Given the description of an element on the screen output the (x, y) to click on. 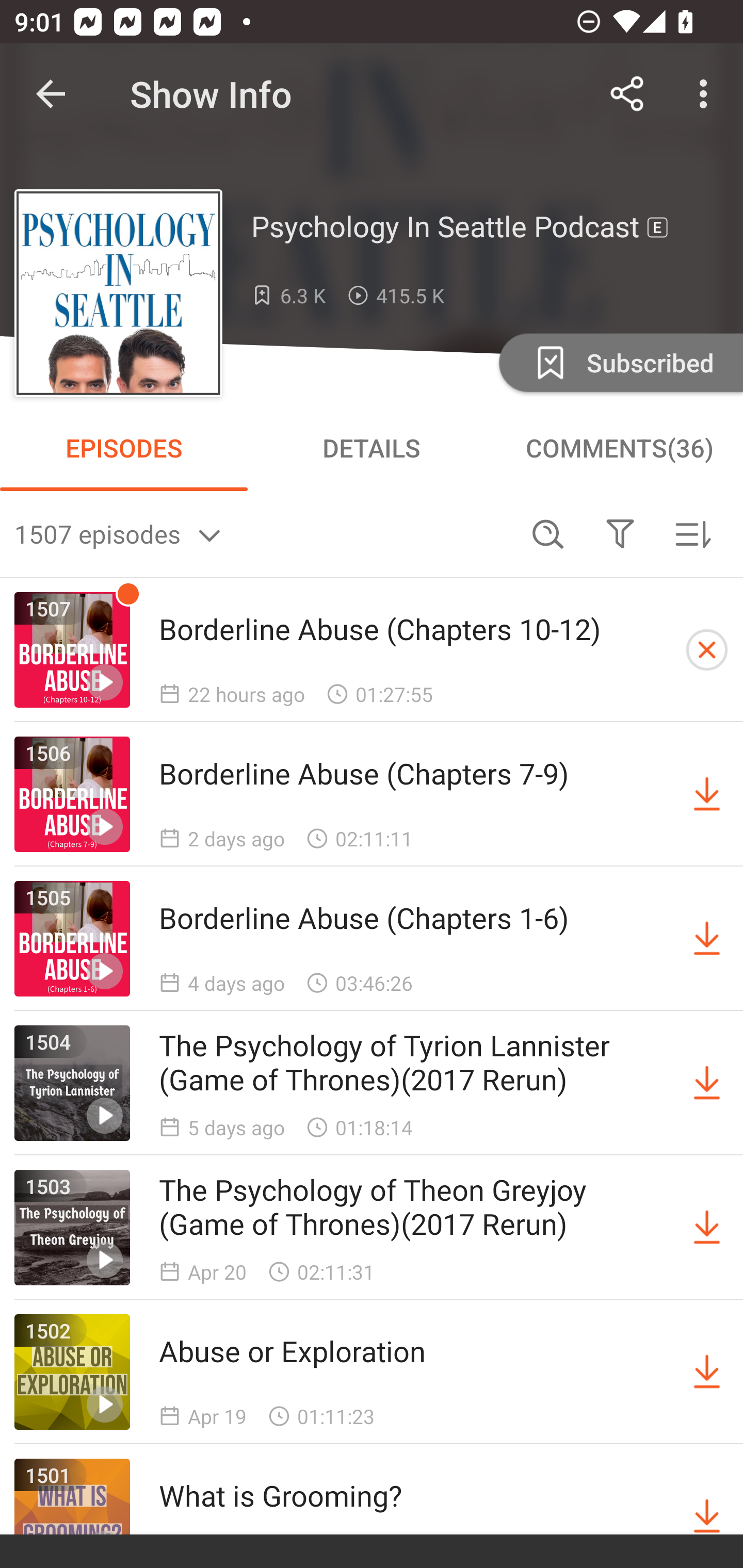
Navigate up (50, 93)
Share (626, 93)
More options (706, 93)
Unsubscribe Subscribed (619, 361)
EPISODES (123, 447)
DETAILS (371, 447)
COMMENTS(36) (619, 447)
1507 episodes  (262, 533)
 Search (547, 533)
 (619, 533)
 Sorted by newest first (692, 533)
Cancel Downloading (706, 649)
Download (706, 793)
Download (706, 939)
Download (706, 1083)
Download (706, 1227)
Download (706, 1371)
Download (706, 1513)
